Given the description of an element on the screen output the (x, y) to click on. 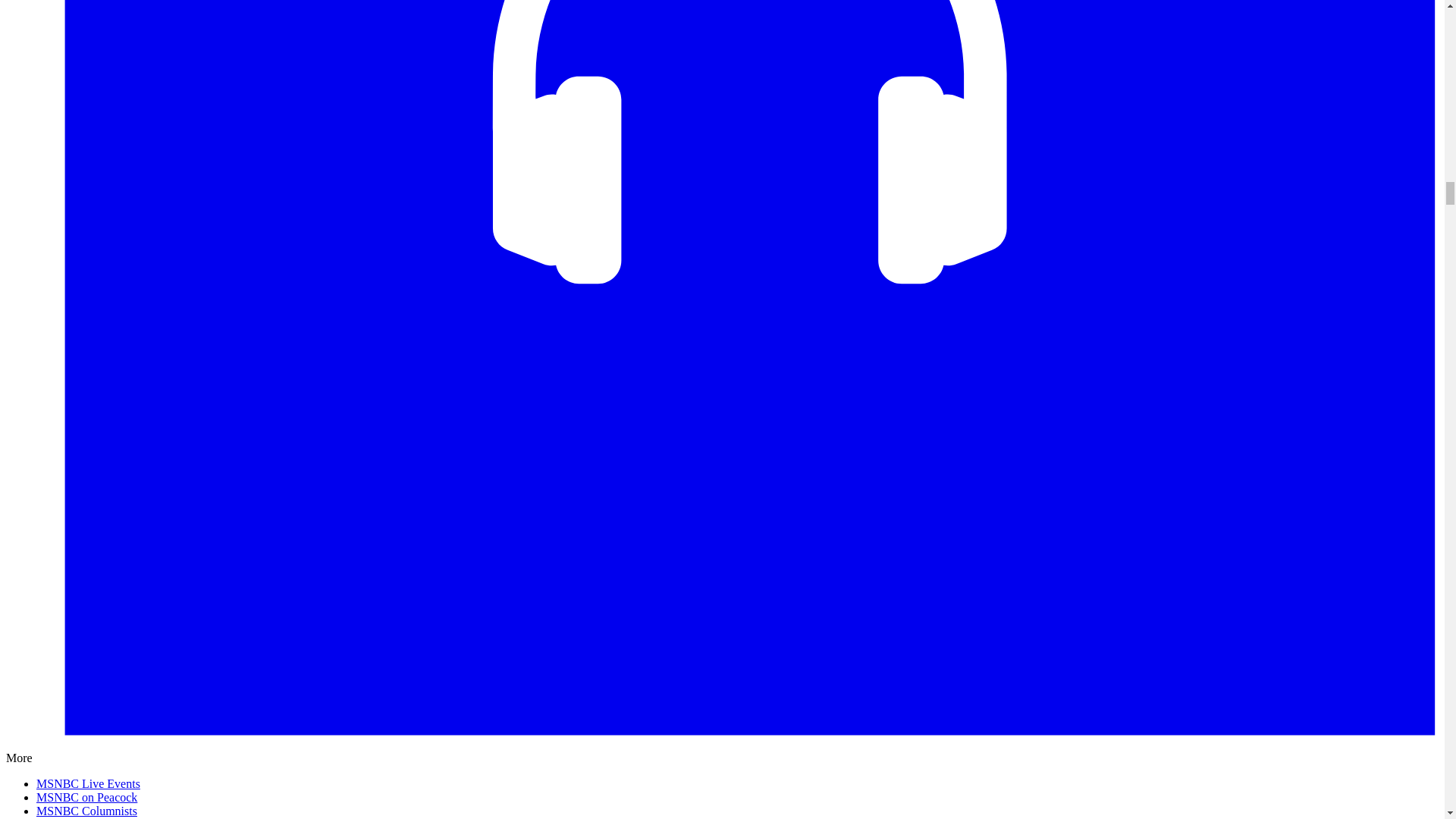
MSNBC on Peacock (86, 797)
MSNBC Live Events (87, 783)
